Given the description of an element on the screen output the (x, y) to click on. 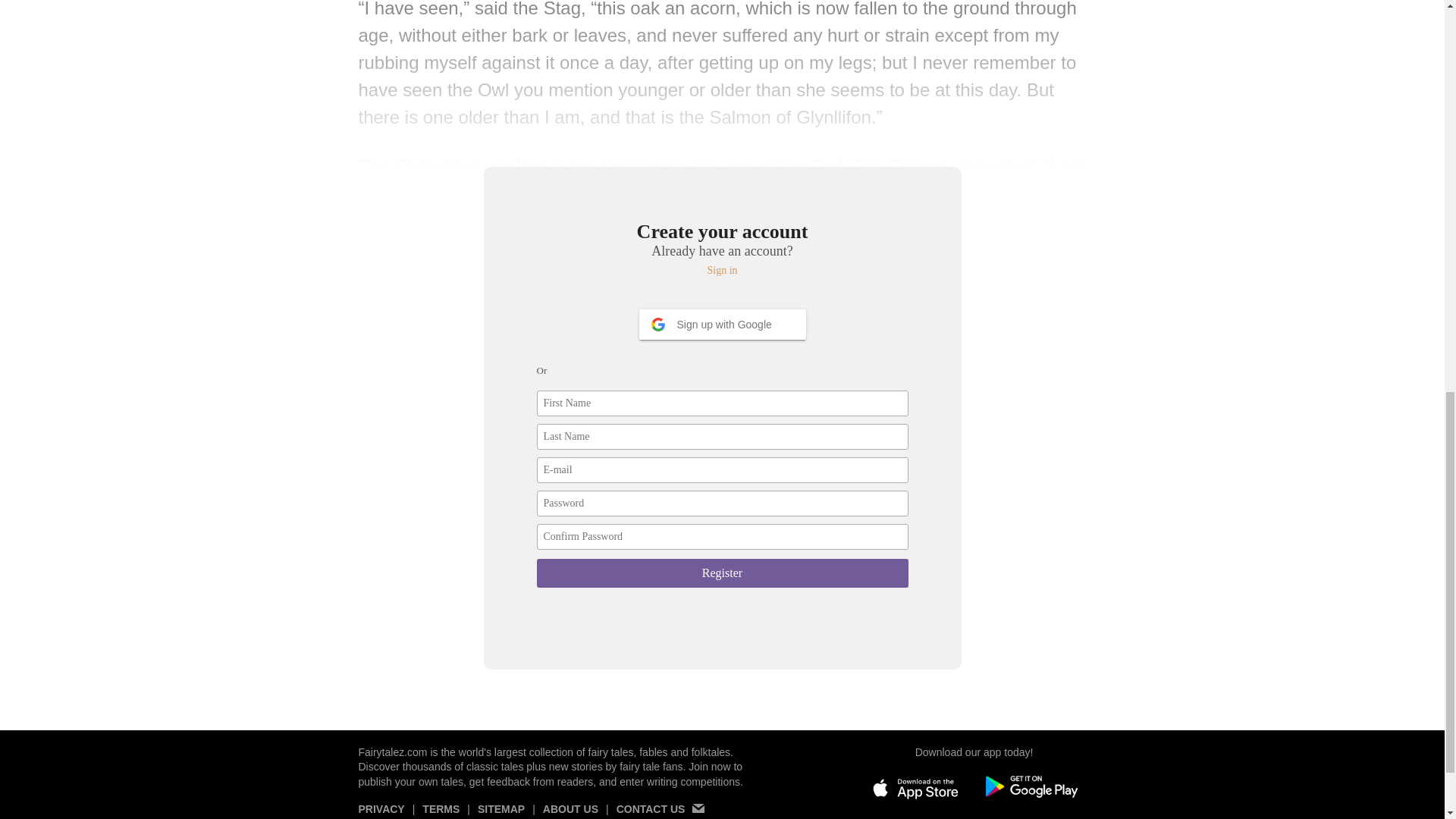
Sign up with Google (722, 324)
Register (722, 573)
PRIVACY (381, 811)
TERMS (441, 811)
Privacy (381, 811)
Sitemap (500, 811)
Sign in (722, 270)
Fairytalez.com (392, 752)
